Given the description of an element on the screen output the (x, y) to click on. 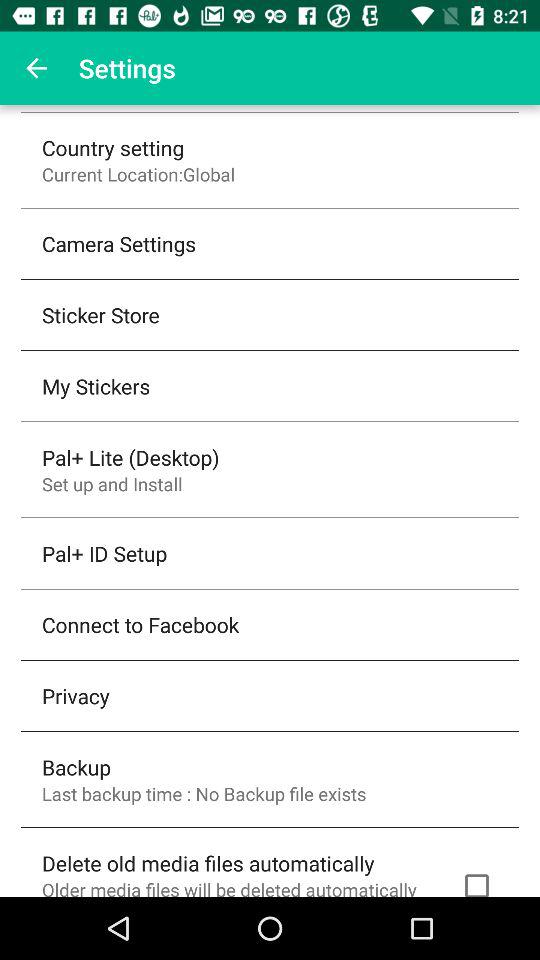
scroll to the pal+ id setup item (104, 553)
